Given the description of an element on the screen output the (x, y) to click on. 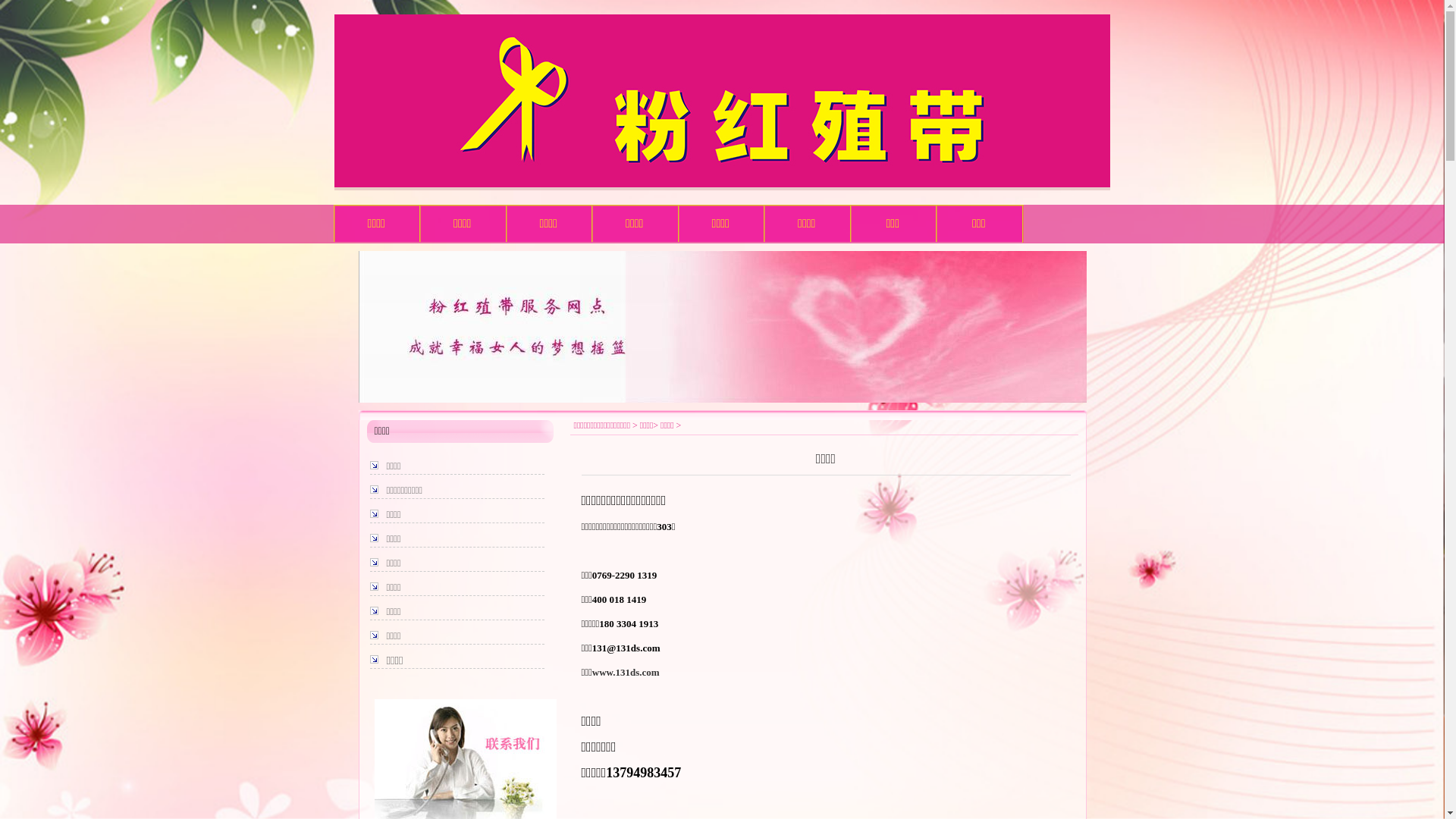
www.131ds.com Element type: text (625, 671)
